Given the description of an element on the screen output the (x, y) to click on. 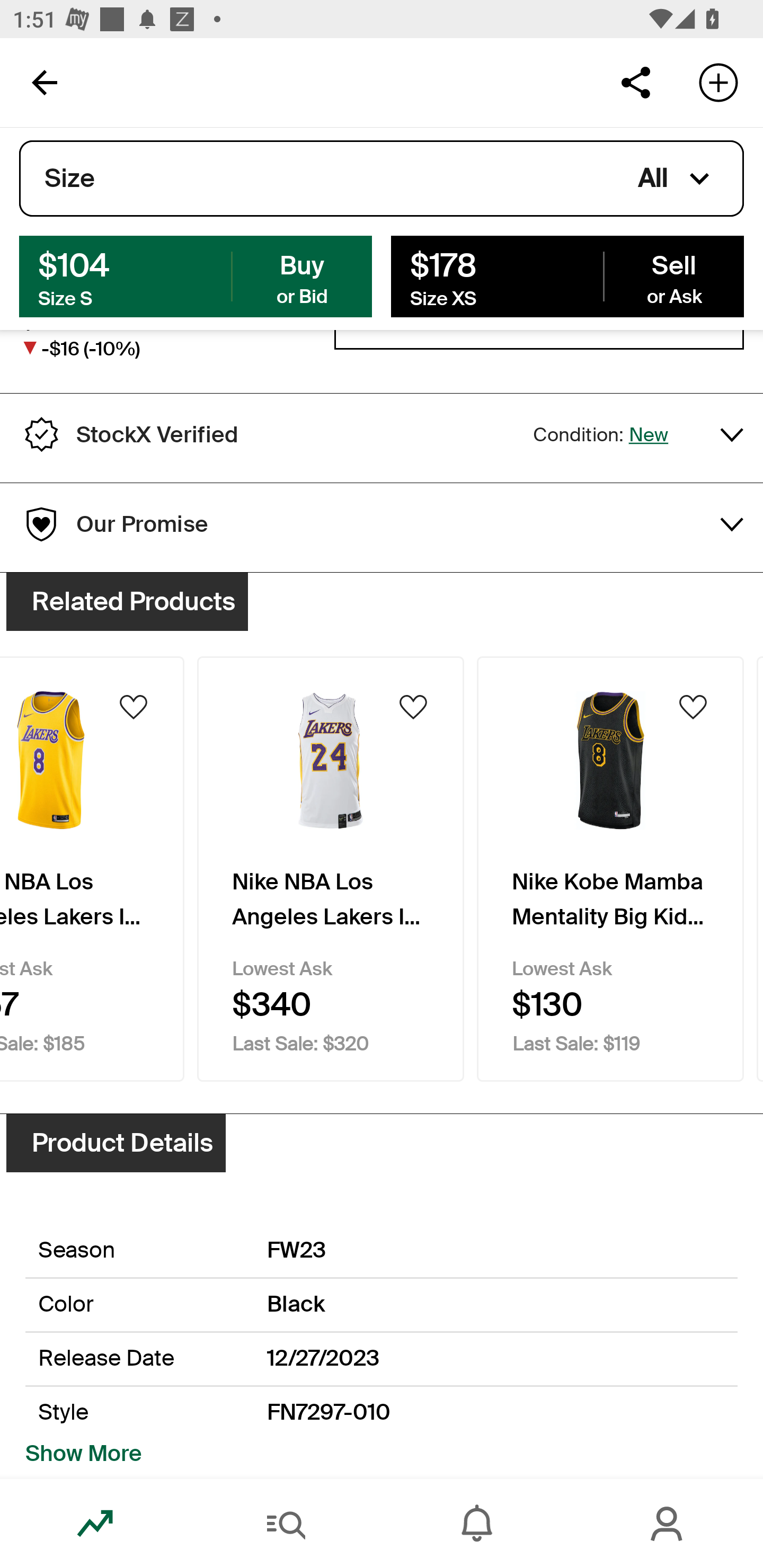
Share (635, 81)
Add (718, 81)
Size All (381, 178)
$104 Buy Size S or Bid (195, 275)
$178 Sell Size XS or Ask (566, 275)
Show More (83, 1453)
Search (285, 1523)
Inbox (476, 1523)
Account (667, 1523)
